Given the description of an element on the screen output the (x, y) to click on. 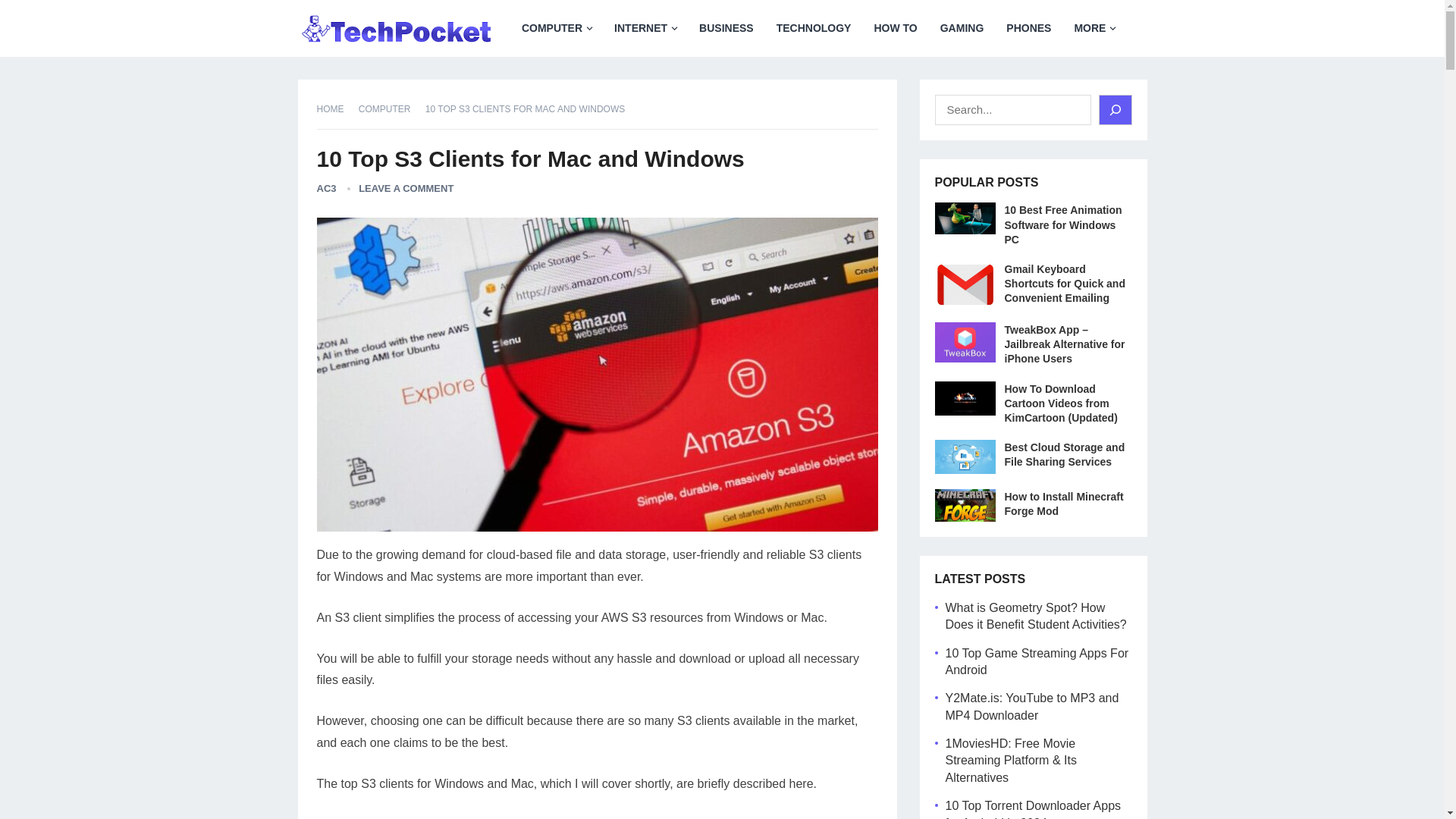
PHONES (1028, 28)
HOME (336, 109)
Posts by AC3 (326, 188)
BUSINESS (726, 28)
INTERNET (644, 28)
GAMING (961, 28)
HOW TO (894, 28)
MORE (1093, 28)
View all posts in Computer (390, 109)
COMPUTER (556, 28)
TECHNOLOGY (814, 28)
